Given the description of an element on the screen output the (x, y) to click on. 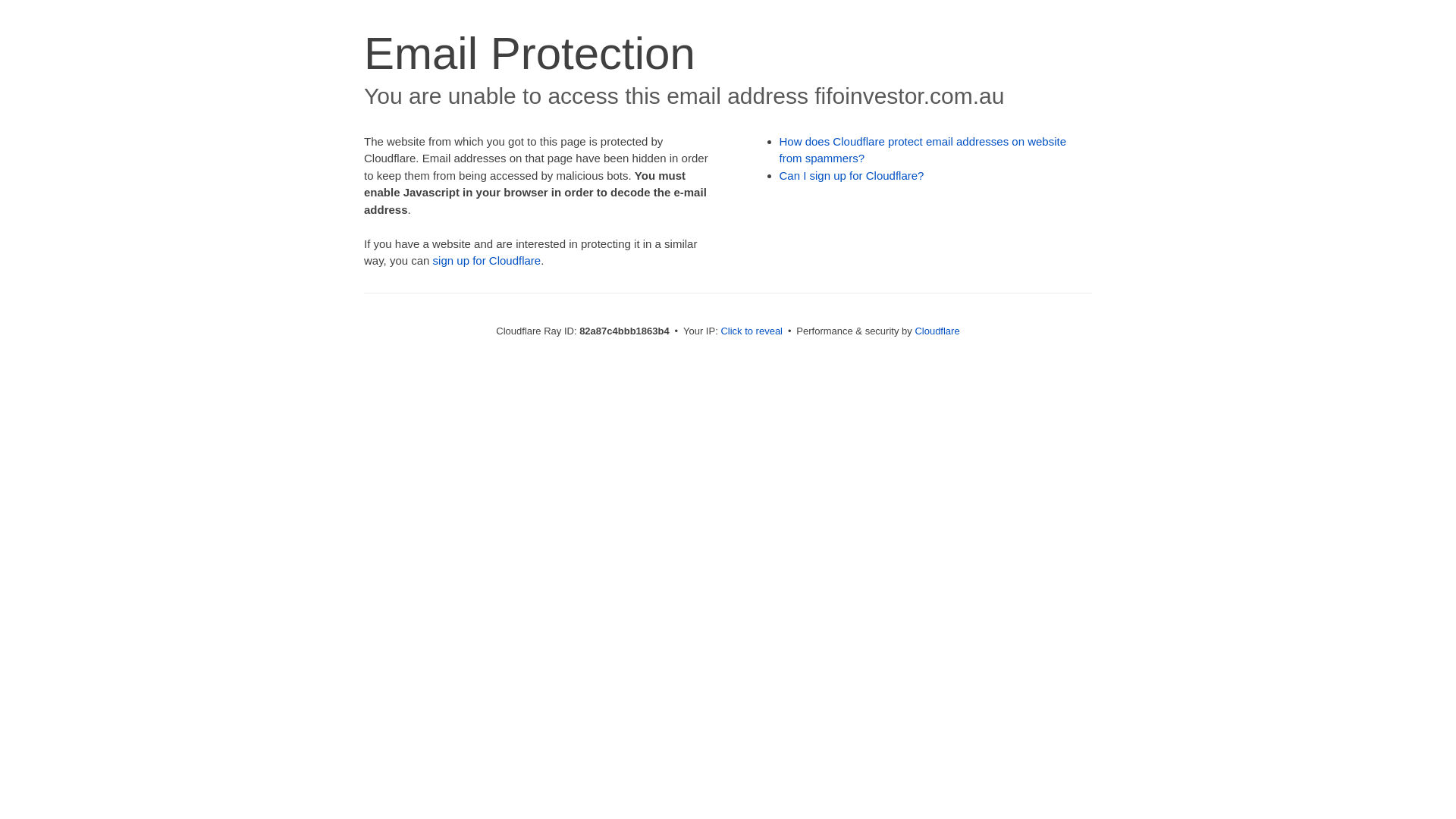
sign up for Cloudflare Element type: text (487, 260)
Click to reveal Element type: text (751, 330)
Can I sign up for Cloudflare? Element type: text (851, 175)
Cloudflare Element type: text (936, 330)
